Given the description of an element on the screen output the (x, y) to click on. 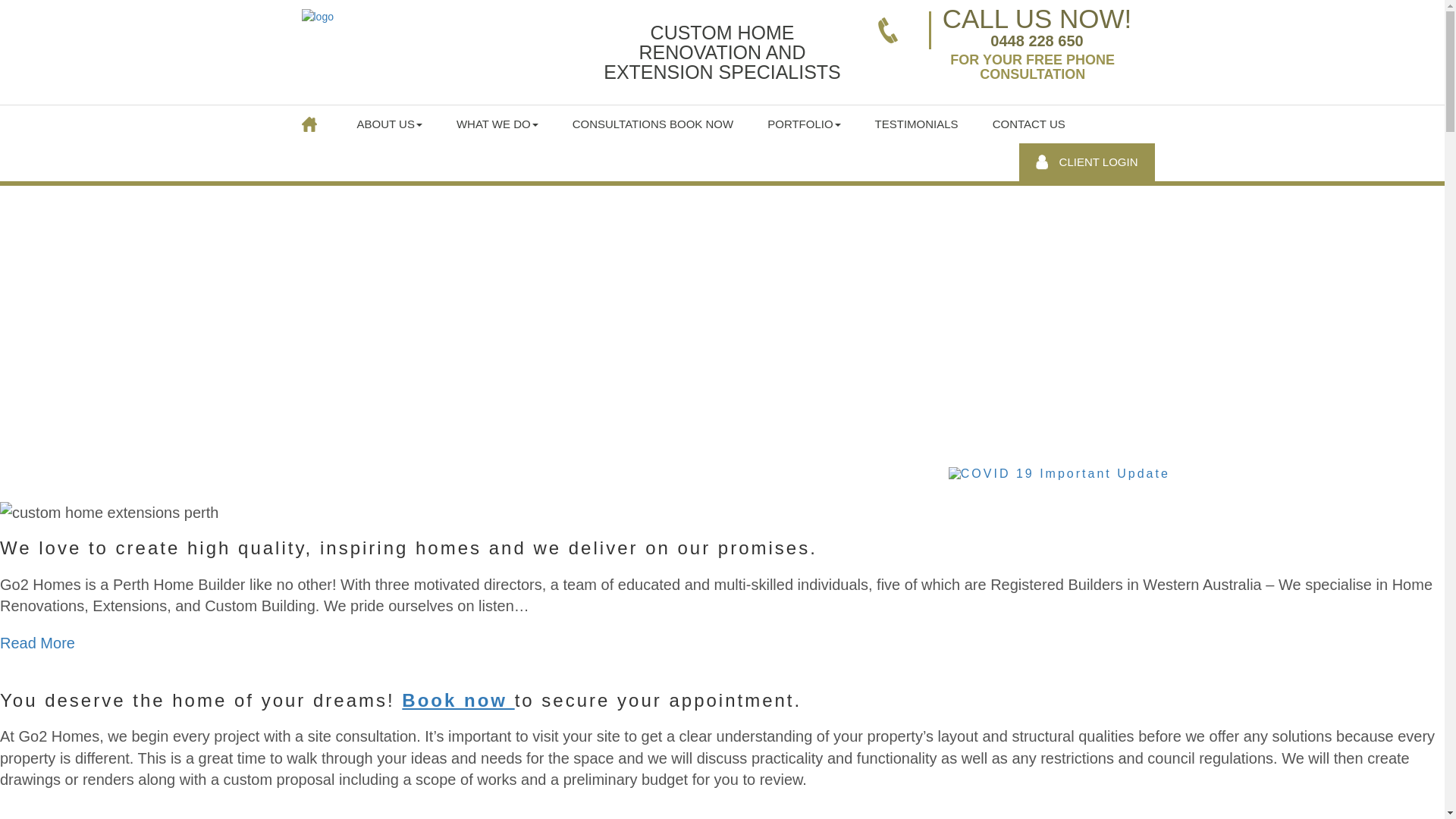
Book now Element type: text (457, 700)
PORTFOLIO Element type: text (803, 124)
Read More Element type: text (37, 642)
WHAT WE DO Element type: text (497, 124)
CLIENT LOGIN Element type: text (1086, 162)
ABOUT US Element type: text (389, 124)
FOR YOUR FREE PHONE CONSULTATION Element type: text (1032, 66)
TESTIMONIALS Element type: text (916, 124)
CONTACT US Element type: text (1028, 124)
CONSULTATIONS BOOK NOW Element type: text (653, 124)
0448 228 650 Element type: text (1037, 57)
